Given the description of an element on the screen output the (x, y) to click on. 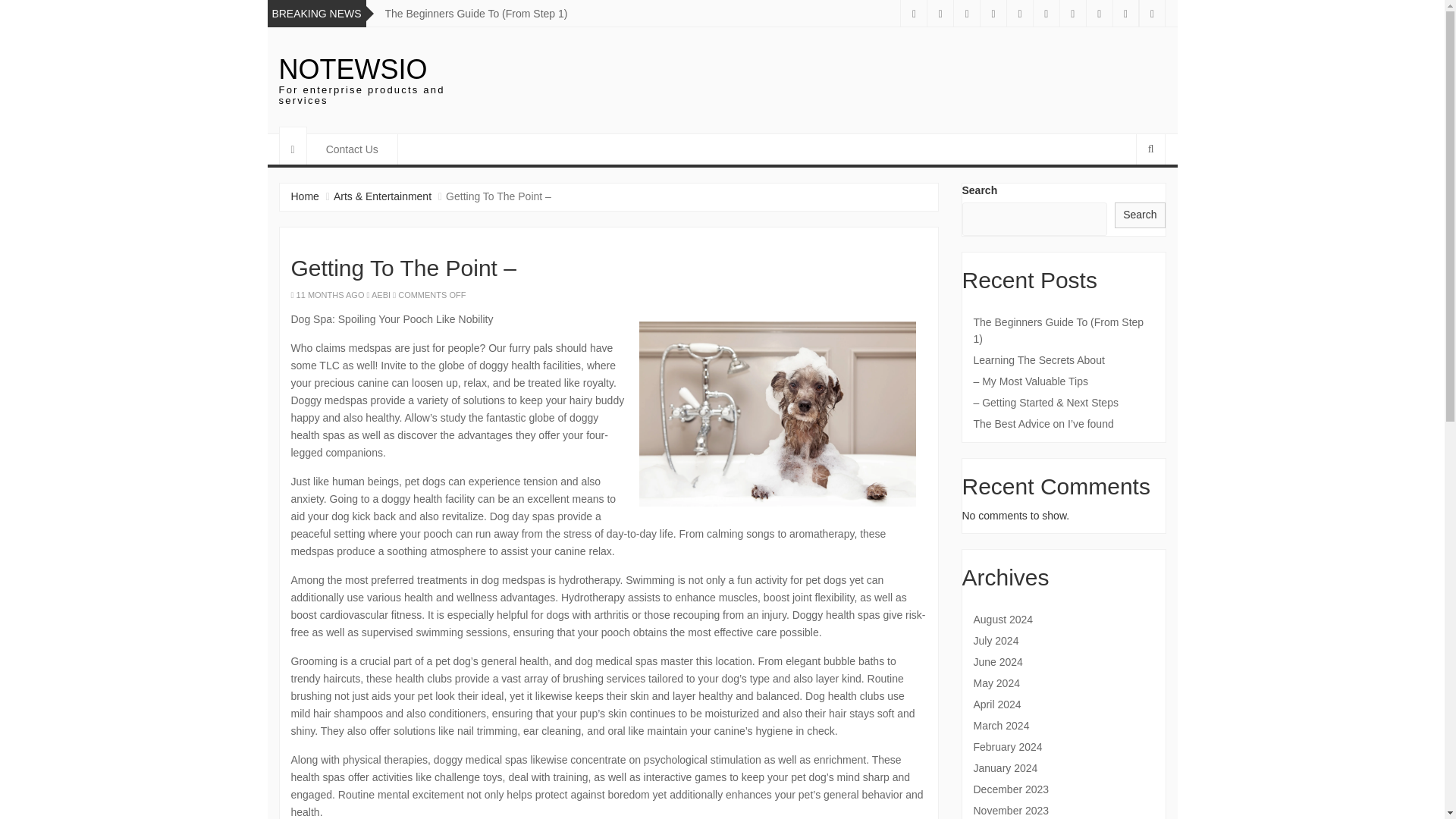
NOTEWSIO (353, 69)
Contact Us (352, 149)
Learning The Secrets About (1064, 360)
Home (304, 196)
Search (1139, 215)
